Given the description of an element on the screen output the (x, y) to click on. 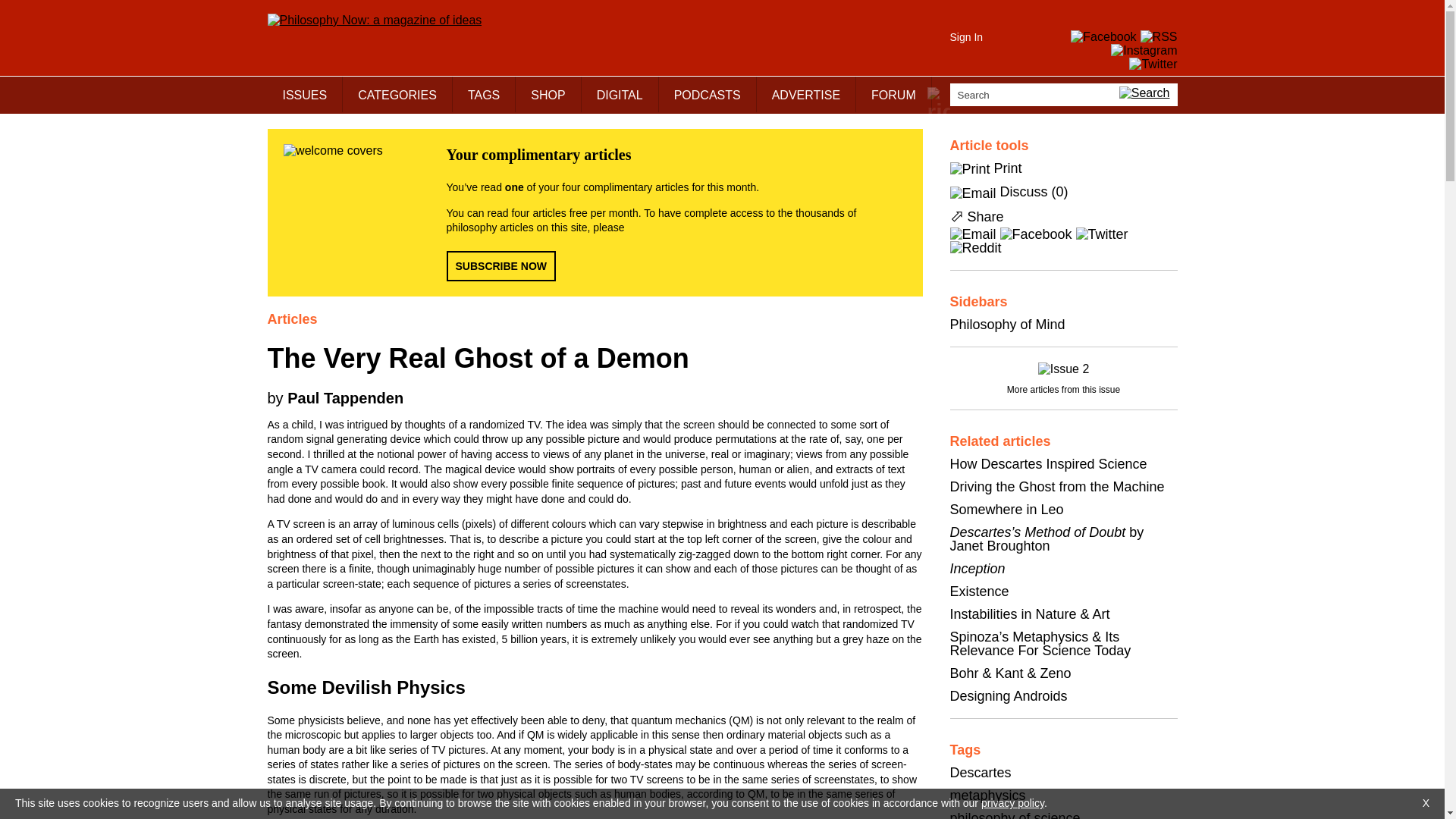
Email (972, 233)
Sign In (965, 37)
RSS (1158, 37)
SUBSCRIBE NOW (500, 265)
Search (1062, 94)
TAGS (483, 94)
Twitter (1101, 233)
SHOP (547, 94)
ISSUES (304, 94)
Issue 2 (1063, 368)
More articles from this issue (1063, 388)
Inception (976, 568)
Facebook (1035, 233)
CATEGORIES (397, 94)
Driving the Ghost from the Machine (1056, 486)
